Given the description of an element on the screen output the (x, y) to click on. 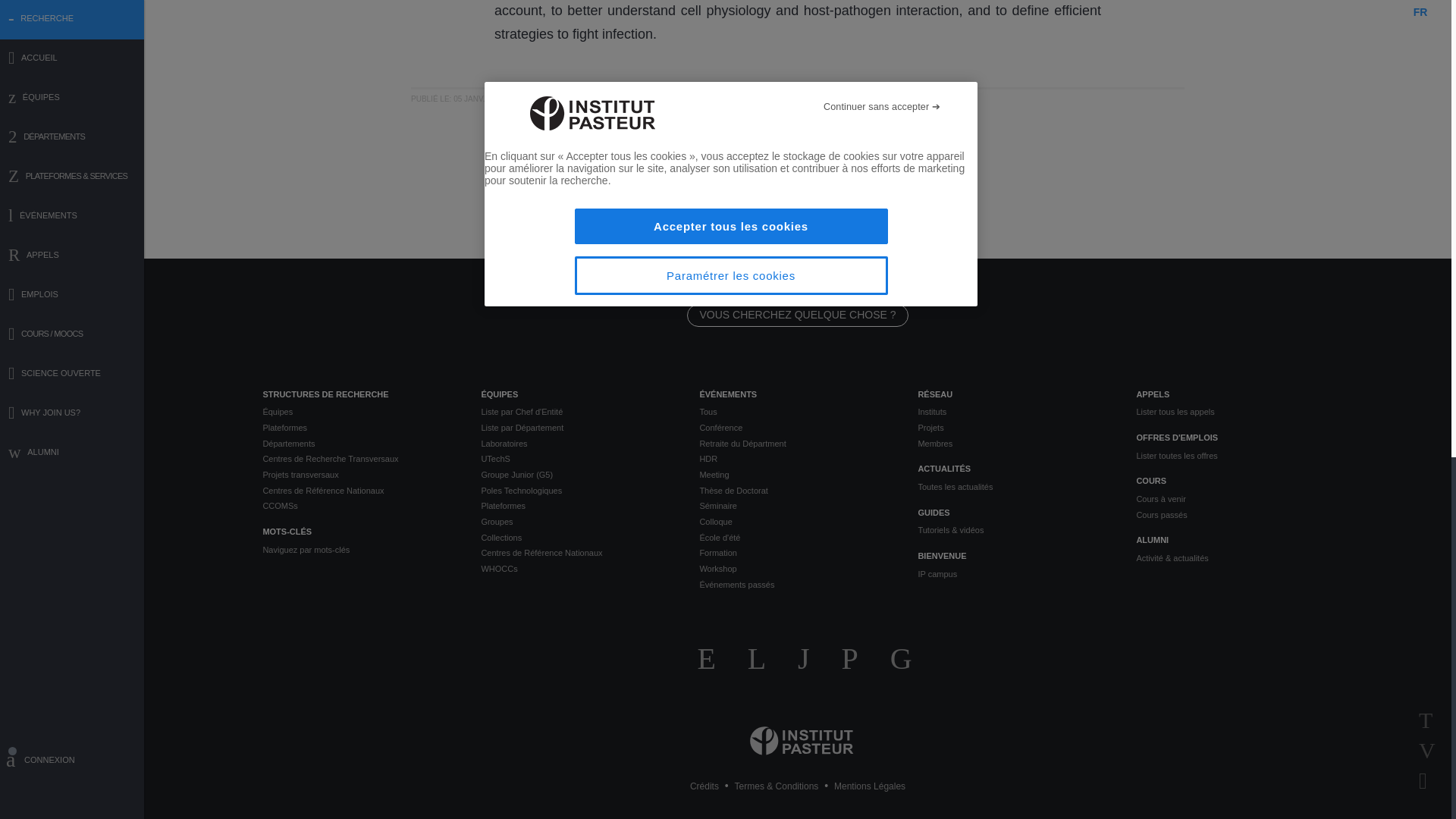
Plateformes (360, 427)
